Given the description of an element on the screen output the (x, y) to click on. 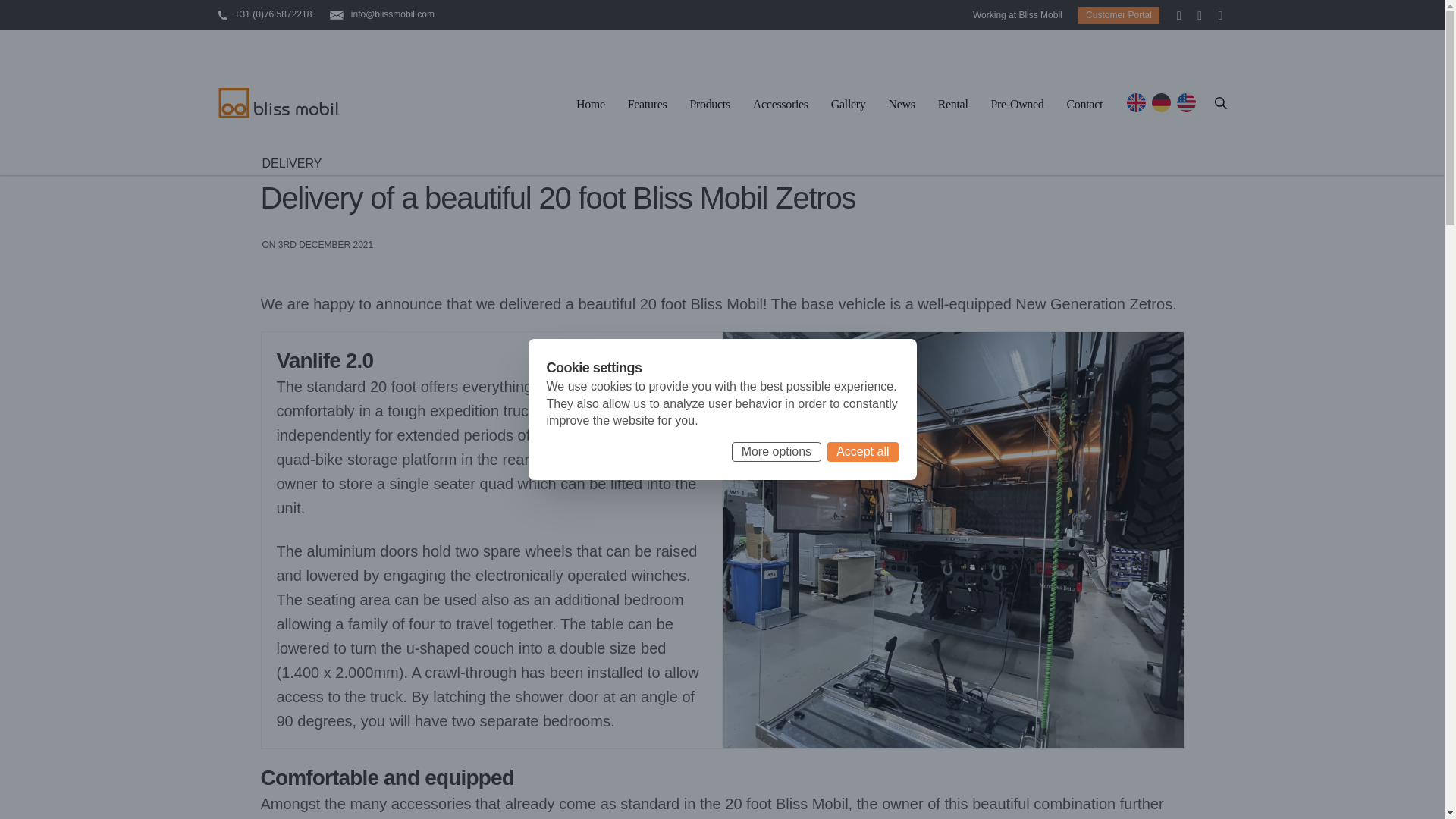
Accessories (780, 106)
Working at Bliss Mobil (1017, 14)
DELIVERY (291, 163)
Customer Portal (1118, 14)
Pre-Owned (1017, 106)
Bliss Mobil (278, 102)
